Given the description of an element on the screen output the (x, y) to click on. 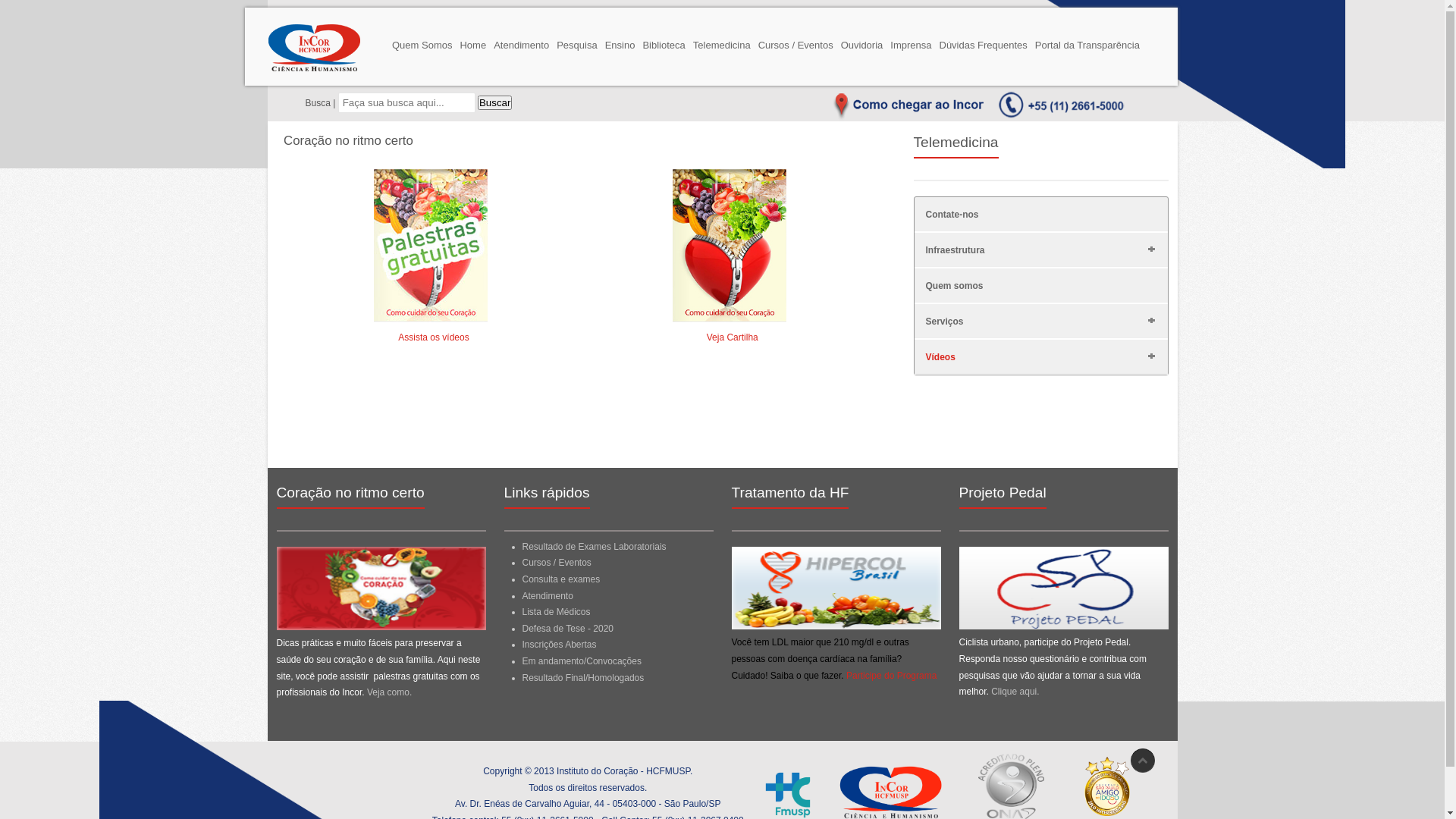
Consulta e exames Element type: text (560, 579)
Defesa de Tese - 2020 Element type: text (567, 628)
Veja como Element type: text (388, 692)
Ensino Element type: text (620, 41)
Participe do Programa Element type: text (891, 675)
Quem somos Element type: text (953, 285)
Contate-nos Element type: text (951, 214)
Clique aqui. Element type: text (1013, 691)
Resultado de Exames Laboratoriais Element type: text (593, 546)
Back to Top Element type: hover (1141, 760)
Atendimento Element type: text (546, 595)
Biblioteca Element type: text (663, 41)
Cursos / Eventos Element type: text (795, 41)
Infraestrutura Element type: hover (1150, 248)
Veja Cartilha Element type: text (732, 328)
Ouvidoria Element type: text (861, 41)
Telemedicina Element type: text (721, 41)
Quem Somos Element type: text (421, 41)
Resultado Final/Homologados Element type: text (582, 676)
Buscar Element type: text (494, 102)
Home Element type: text (472, 41)
Cursos / Eventos Element type: text (555, 562)
Atendimento Element type: text (521, 41)
Infraestrutura Element type: text (954, 249)
Imprensa Element type: text (910, 41)
Pesquisa Element type: text (576, 41)
